Given the description of an element on the screen output the (x, y) to click on. 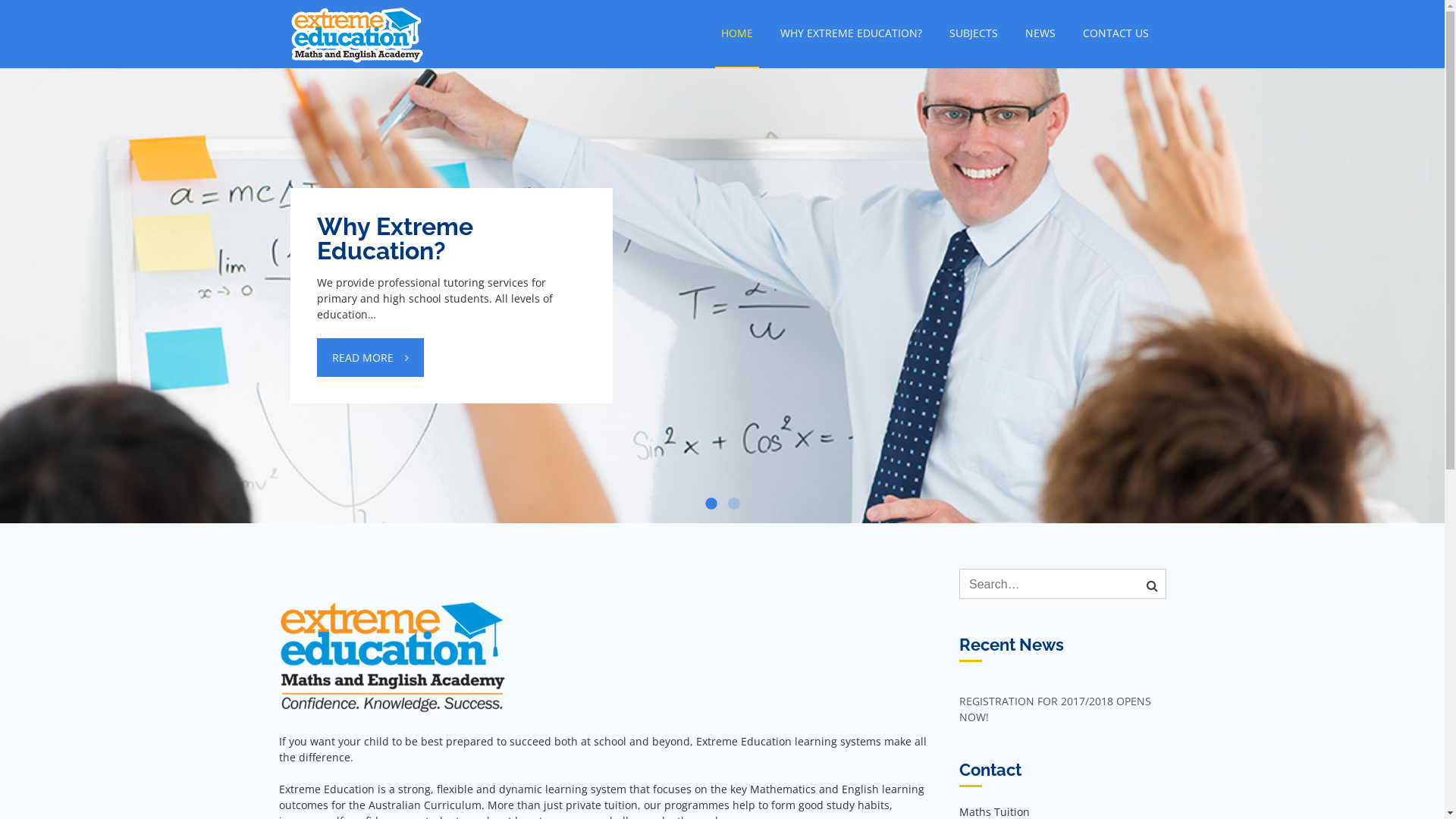
1 Element type: text (710, 503)
Next Element type: text (1414, 250)
CONTACT US Element type: text (1115, 33)
REGISTRATION FOR 2017/2018 OPENS NOW! Element type: text (1055, 708)
NEWS Element type: text (1040, 33)
HOME Element type: text (736, 34)
WHY EXTREME EDUCATION? Element type: text (850, 33)
extreme education Element type: text (544, 23)
2 Element type: text (733, 503)
SUBJECTS Element type: text (973, 33)
READ MORE Element type: text (369, 357)
Previous Element type: text (30, 250)
Why Extreme Education? Element type: text (451, 238)
